Given the description of an element on the screen output the (x, y) to click on. 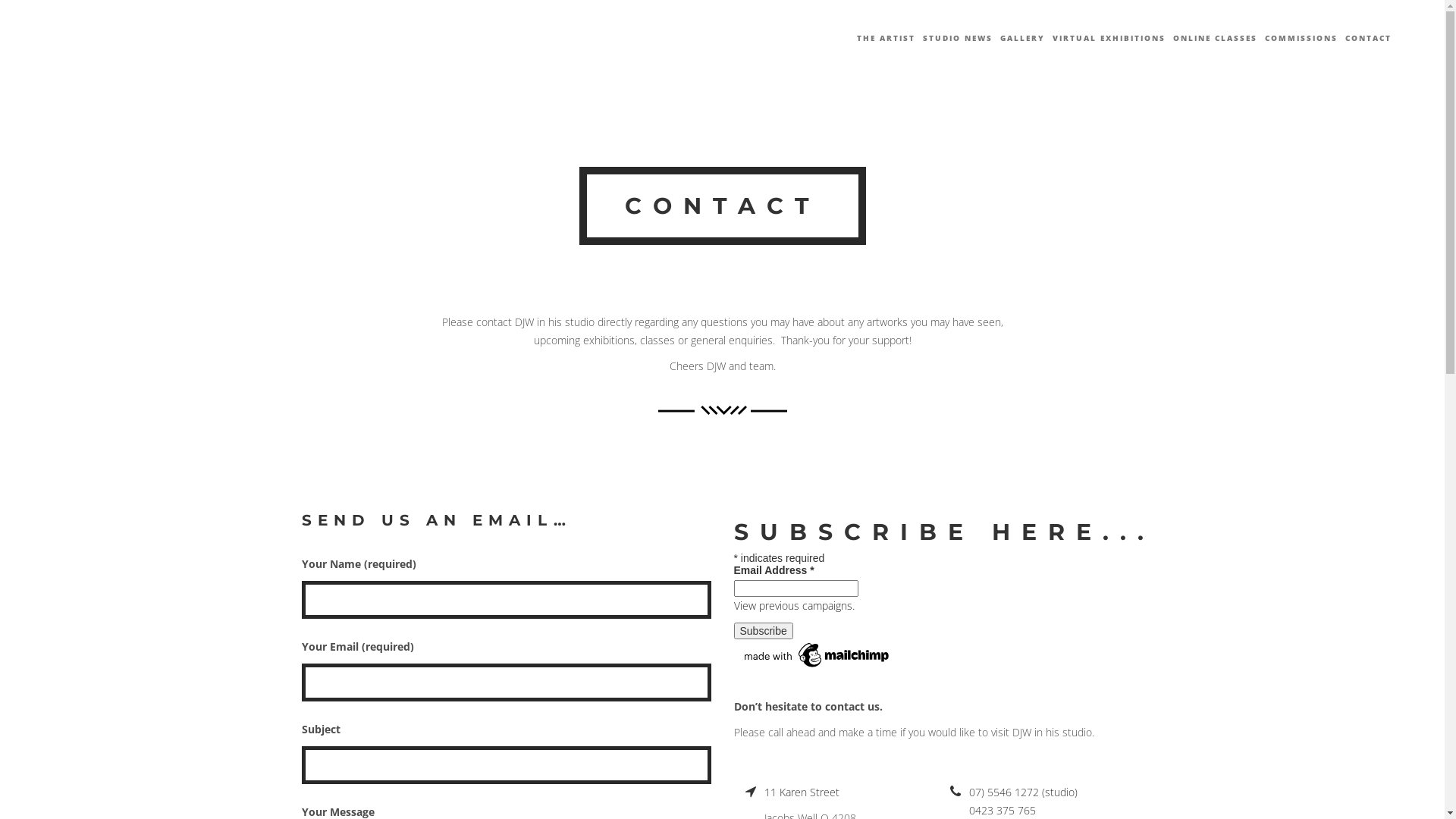
STUDIO NEWS Element type: text (957, 37)
COMMISSIONS Element type: text (1301, 37)
View previous campaigns. Element type: text (794, 605)
VIRTUAL EXHIBITIONS Element type: text (1108, 37)
THE ARTIST Element type: text (886, 37)
Subscribe Element type: text (763, 630)
Mailchimp - email marketing made easy and fun Element type: hover (817, 653)
GALLERY Element type: text (1022, 37)
CONTACT Element type: text (1368, 37)
ONLINE CLASSES Element type: text (1215, 37)
